Given the description of an element on the screen output the (x, y) to click on. 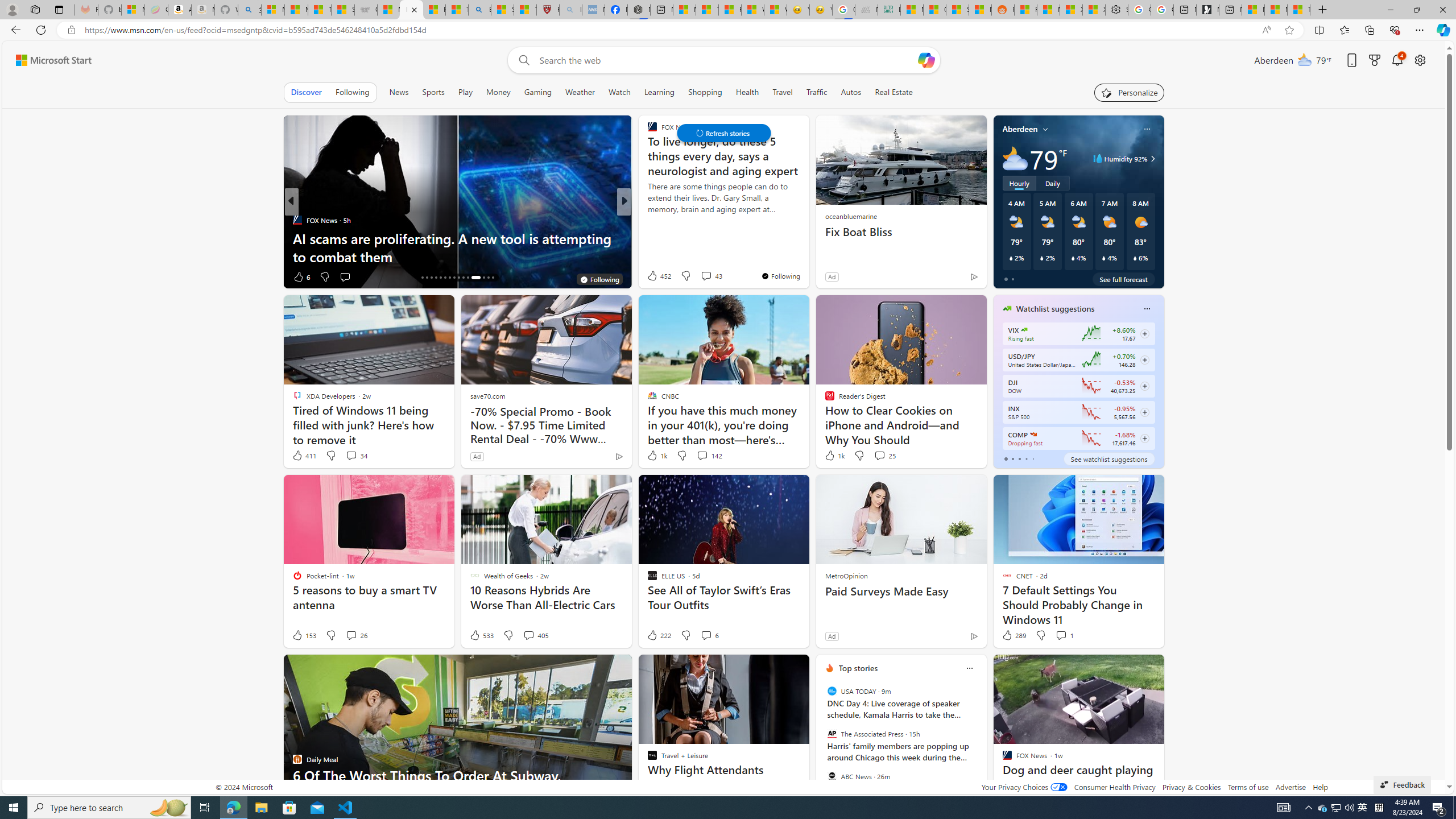
AutomationID: tab-30 (492, 277)
222 Like (658, 634)
AutomationID: tab-22 (449, 277)
tab-3 (1025, 458)
View comments 7 Comment (705, 276)
Daily (1052, 183)
